Given the description of an element on the screen output the (x, y) to click on. 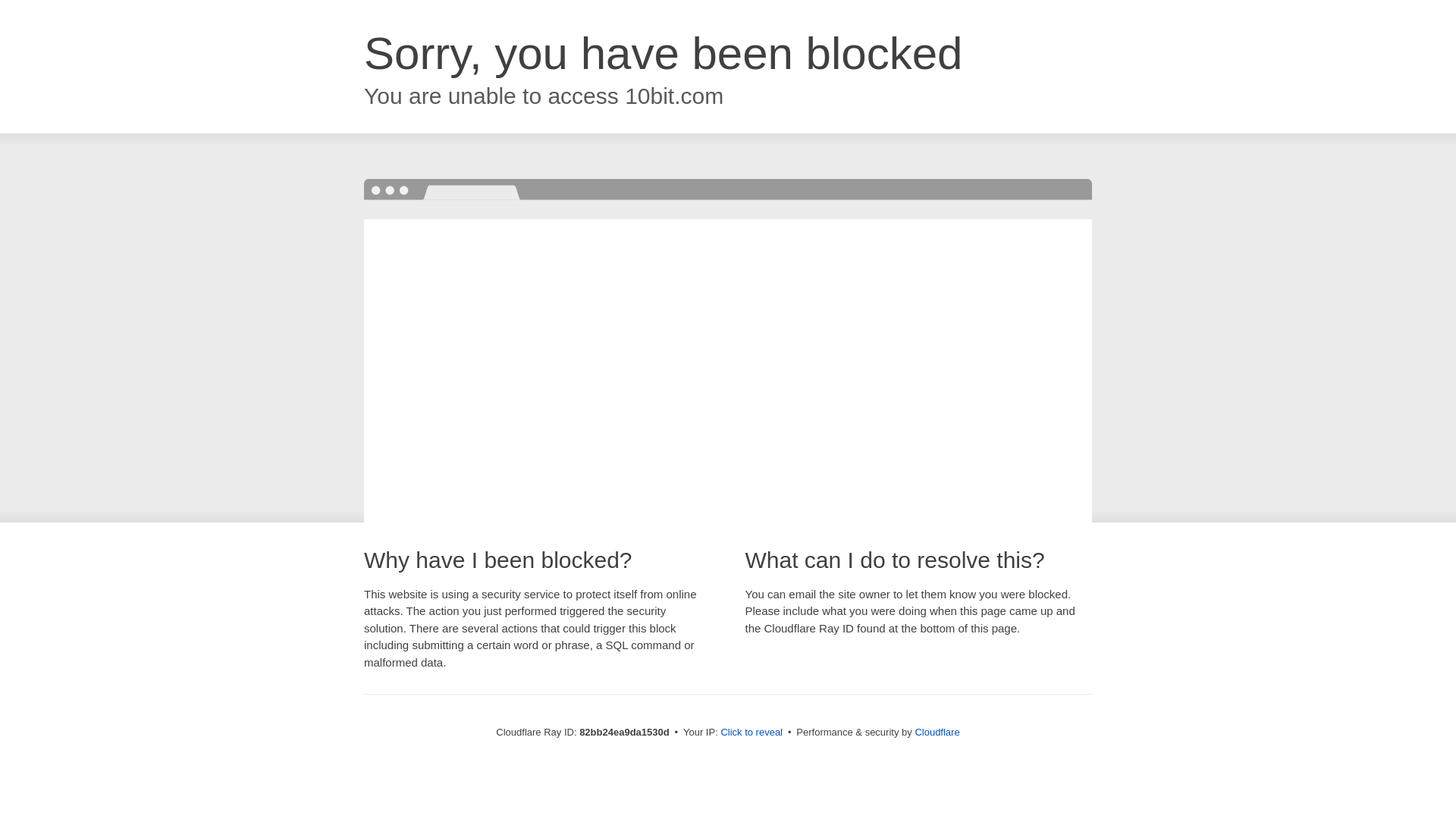
Click to reveal Element type: text (751, 732)
Cloudflare Element type: text (936, 731)
